Given the description of an element on the screen output the (x, y) to click on. 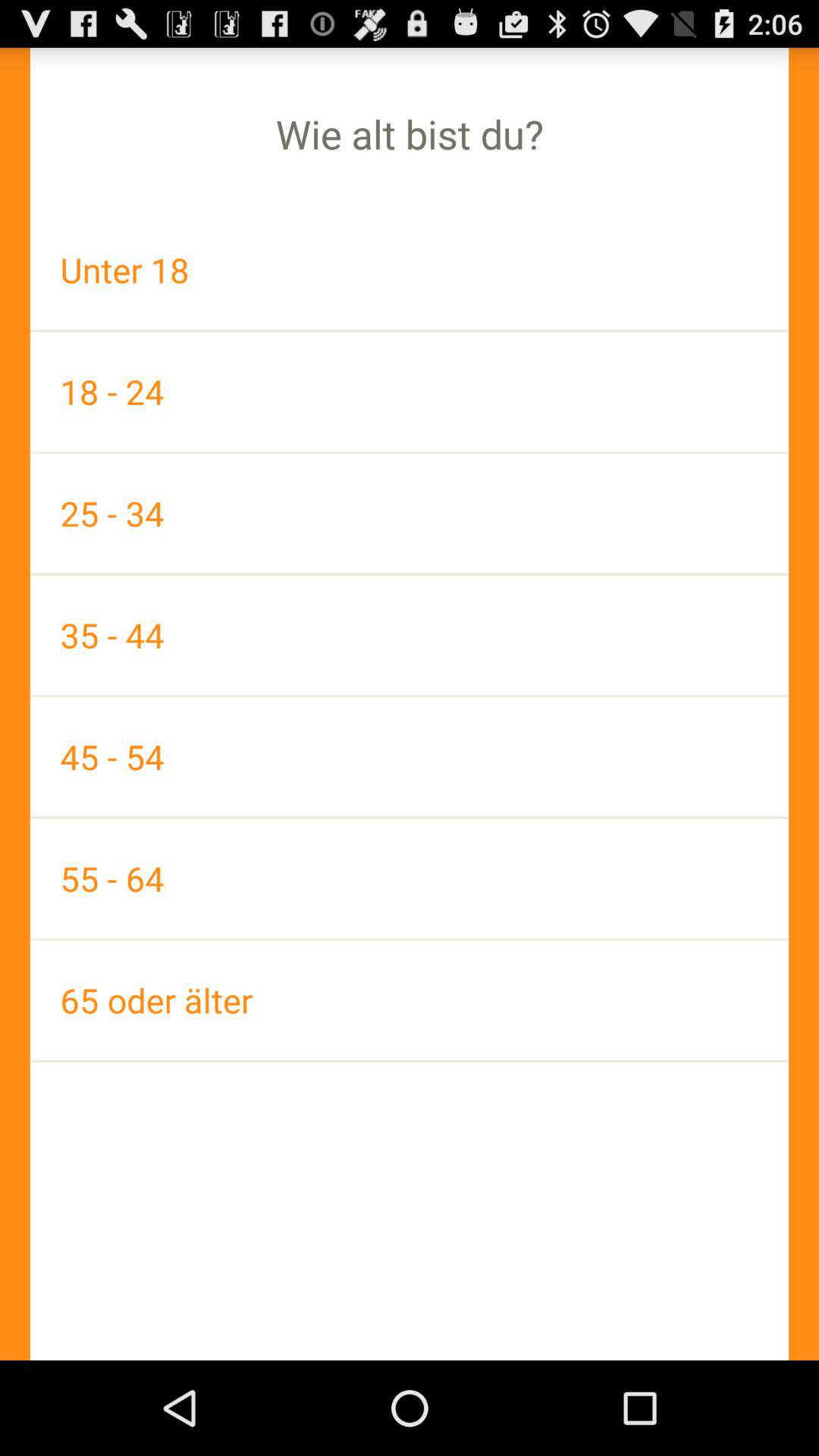
select the item above 55 - 64 (409, 756)
